Given the description of an element on the screen output the (x, y) to click on. 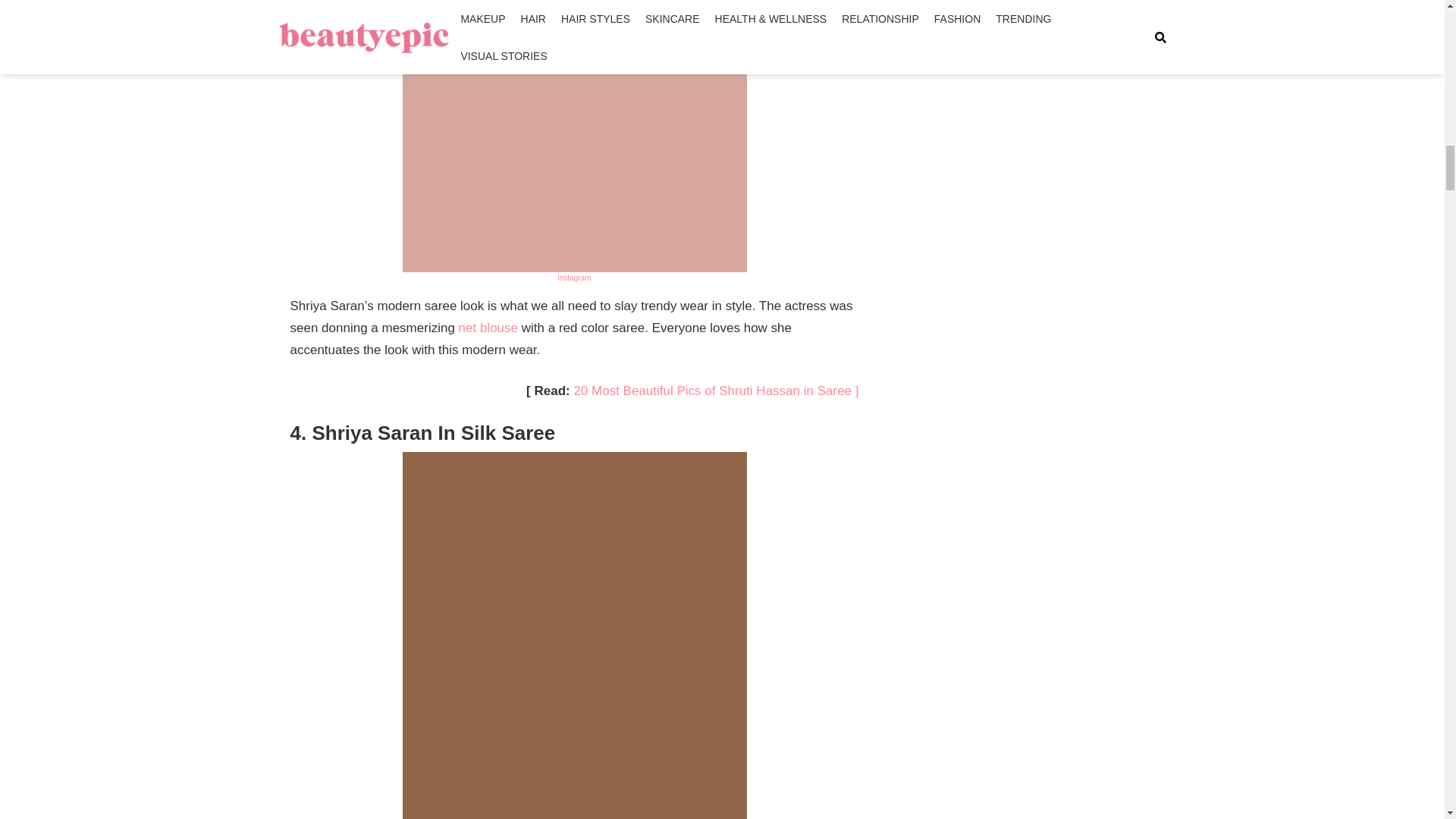
net blouse (488, 327)
